Given the description of an element on the screen output the (x, y) to click on. 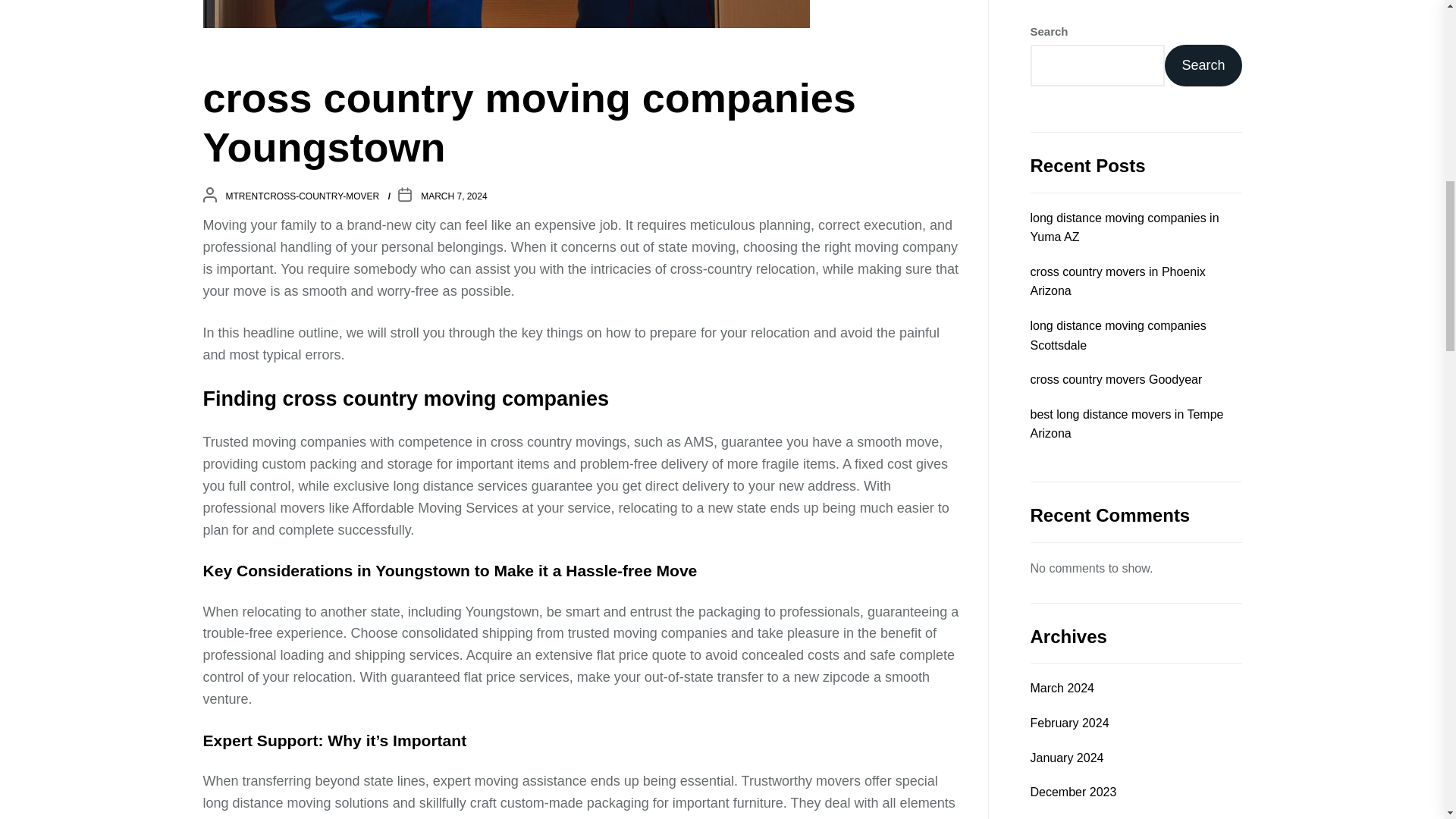
MTRENTCROSS-COUNTRY-MOVER (302, 195)
February 2024 (1068, 72)
March 2024 (1061, 37)
MARCH 7, 2024 (453, 195)
January 2024 (1066, 107)
